Given the description of an element on the screen output the (x, y) to click on. 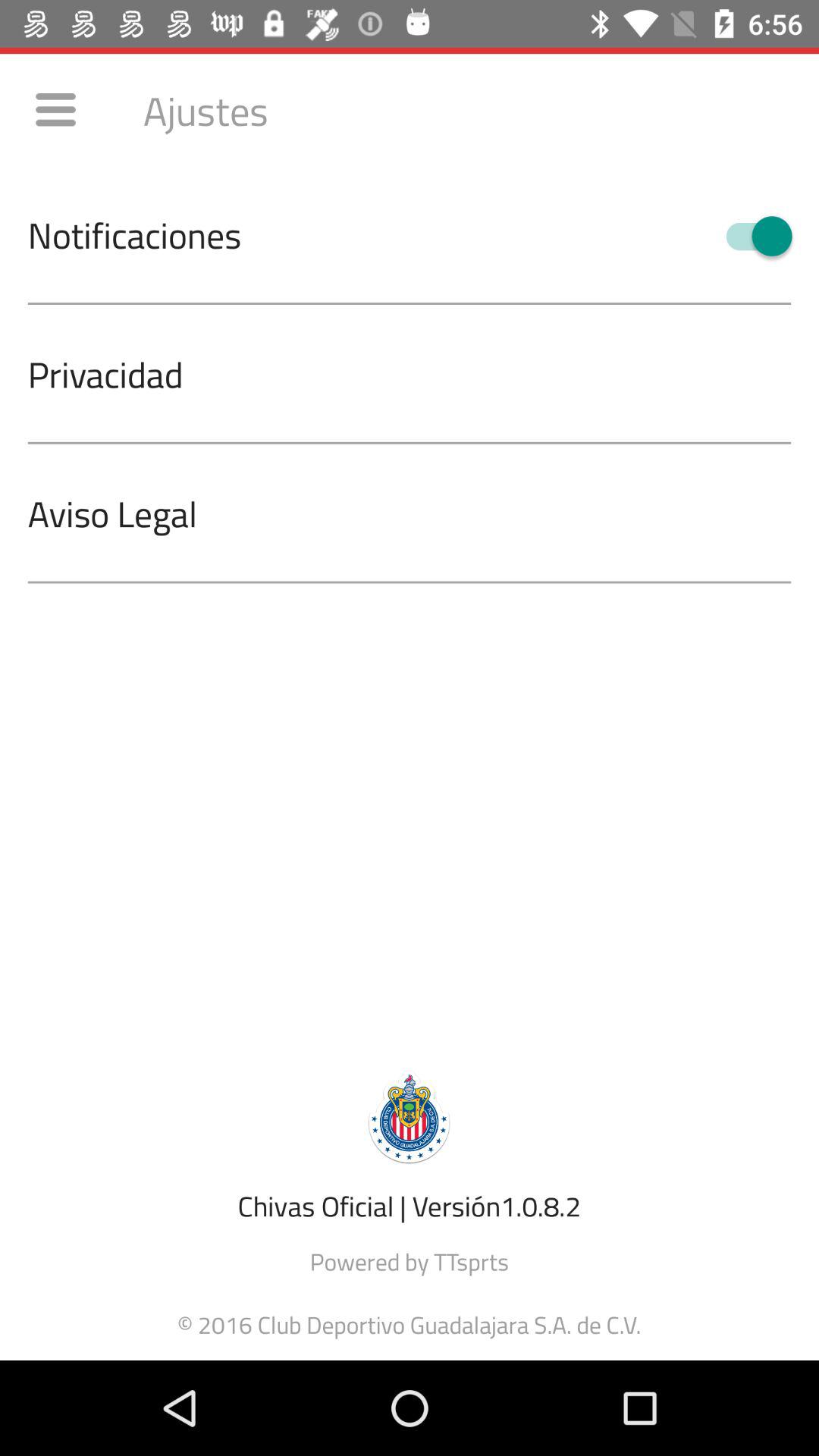
turn on the aviso legal item (423, 512)
